Given the description of an element on the screen output the (x, y) to click on. 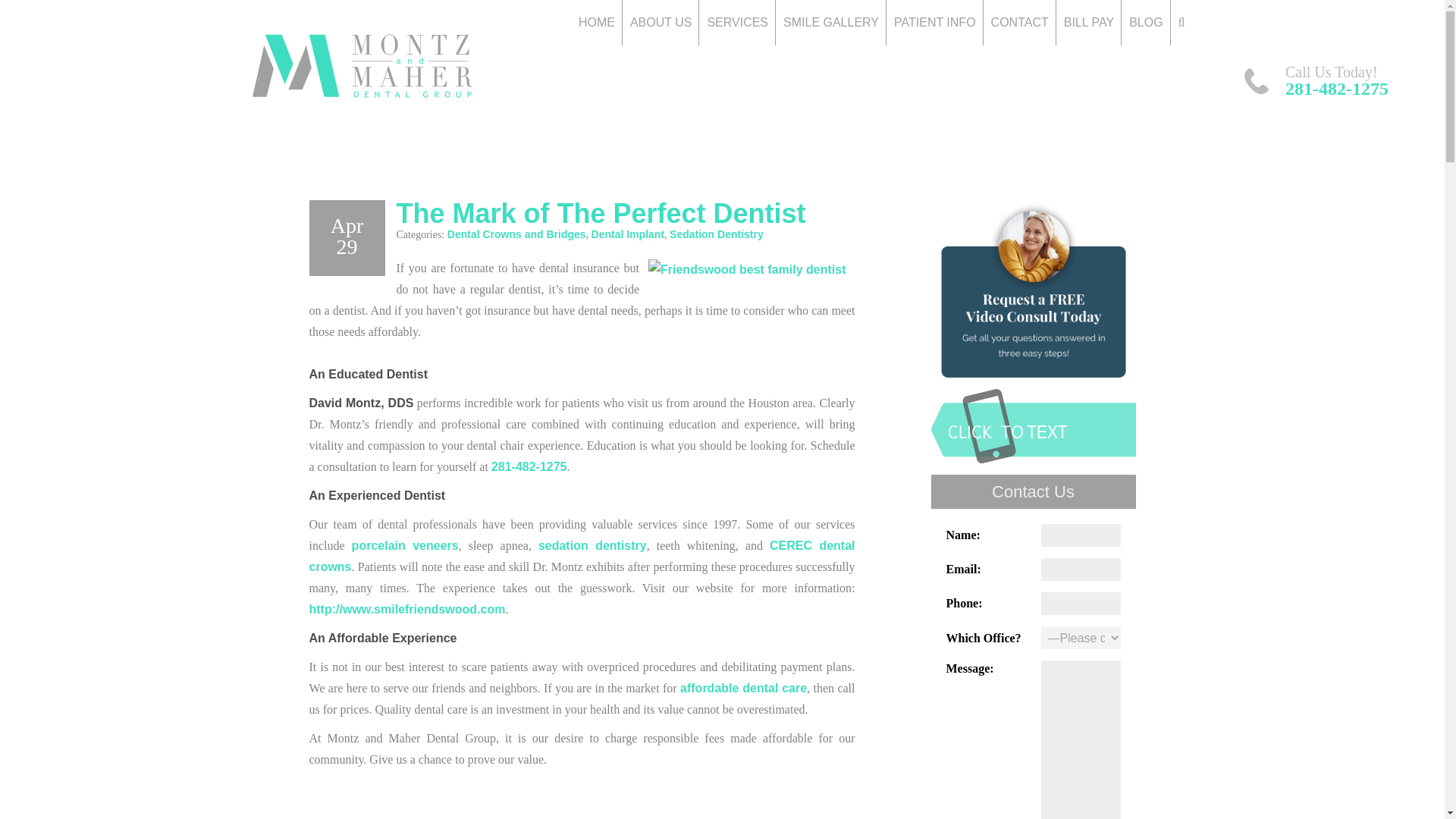
affordable dentistry Friendswood (742, 687)
ABOUT US (661, 22)
HOME (596, 22)
SERVICES (737, 22)
